Given the description of an element on the screen output the (x, y) to click on. 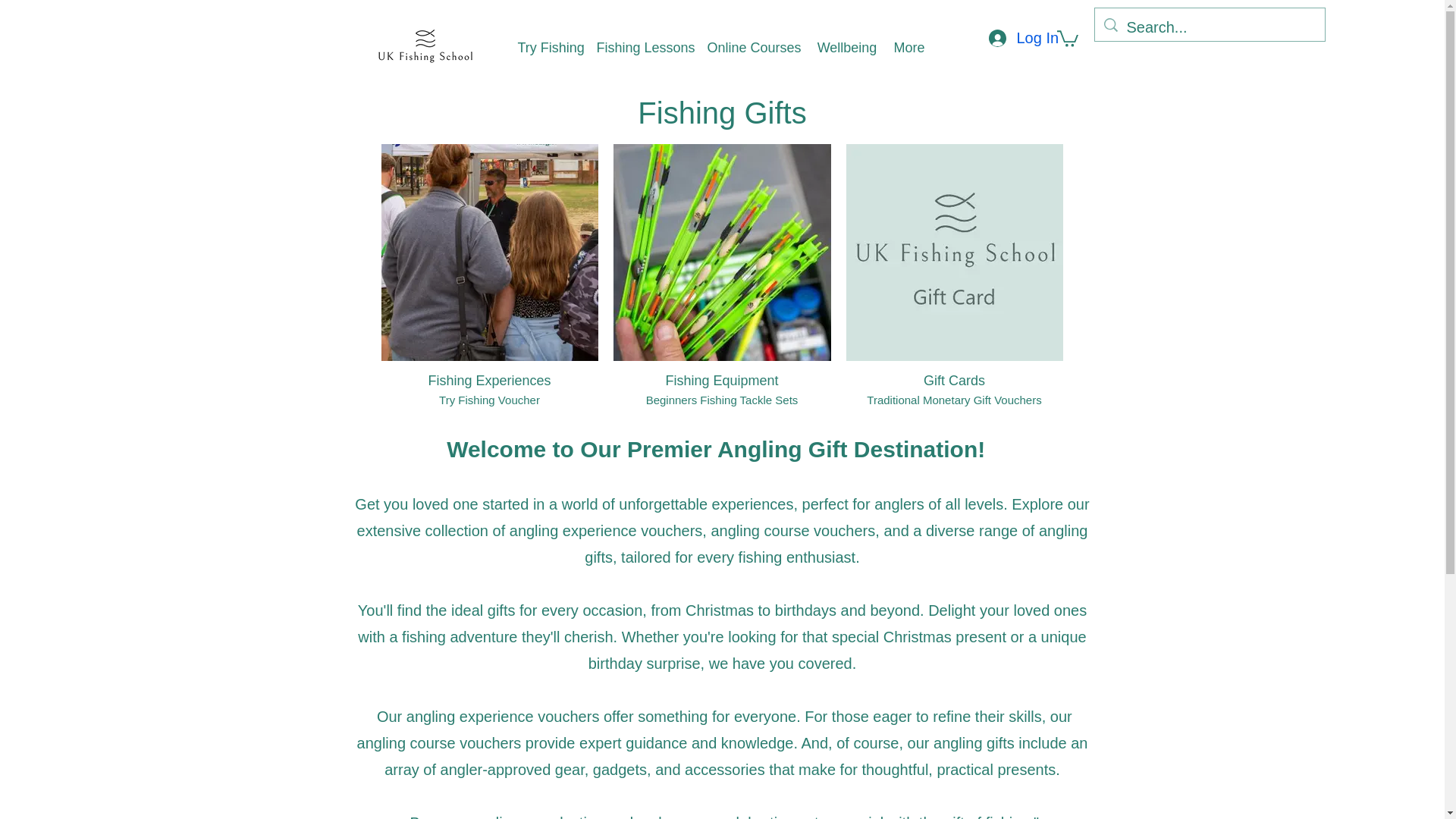
Online Courses (753, 47)
Transparent Logo.png (422, 45)
Log In (1005, 37)
Fishing Lessons (643, 47)
Try Fishing (548, 47)
Wellbeing (846, 47)
